Given the description of an element on the screen output the (x, y) to click on. 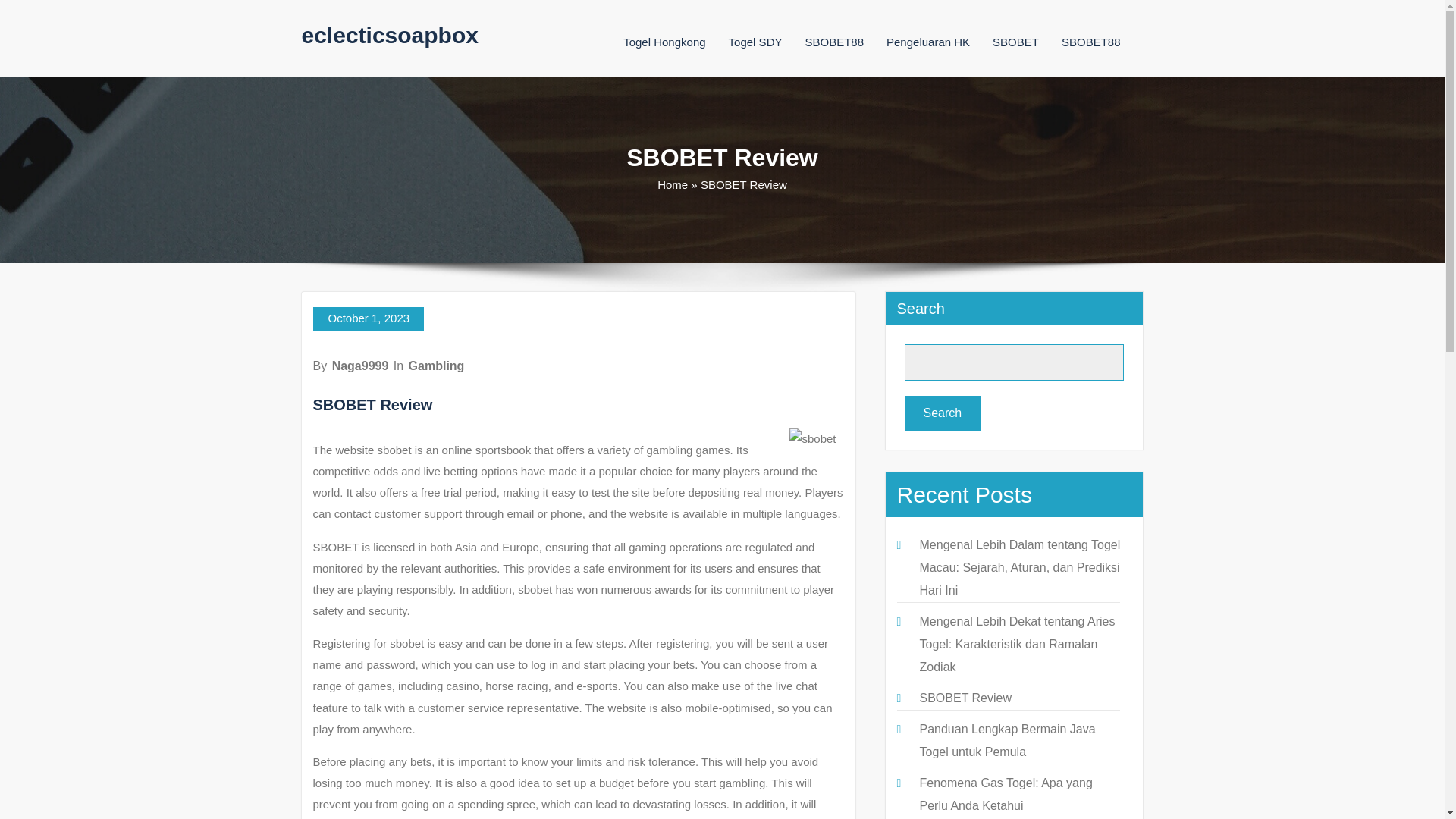
SBOBET (1015, 41)
October 1, 2023 (368, 319)
Search (941, 412)
Pengeluaran HK (927, 41)
SBOBET88 (1091, 41)
SBOBET88 (834, 41)
SBOBET Review (964, 697)
Fenomena Gas Togel: Apa yang Perlu Anda Ketahui (1005, 794)
Naga9999 (360, 365)
Gambling (436, 365)
eclecticsoapbox (390, 34)
Panduan Lengkap Bermain Java Togel untuk Pemula (1006, 740)
Togel SDY (756, 41)
Togel Hongkong (663, 41)
